Given the description of an element on the screen output the (x, y) to click on. 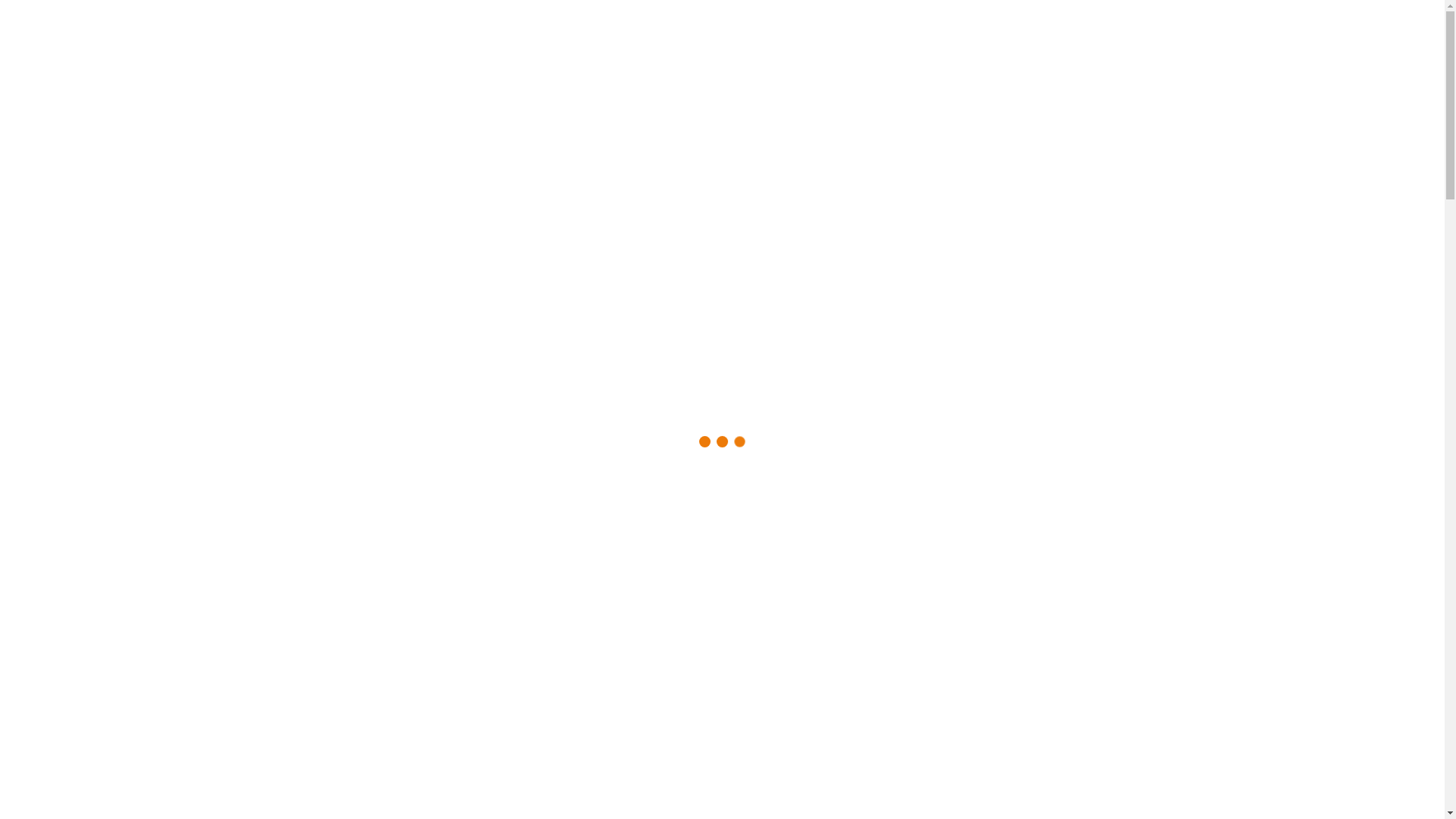
Radio Control, Lifting & Positioning Solutions Element type: hover (242, 86)
Products Element type: text (51, 357)
Services Element type: text (50, 411)
Radio Remote Controls Element type: text (117, 520)
About Element type: text (45, 343)
+61 2 9476 1159 Element type: text (47, 214)
Positioning & Measurement Element type: text (128, 398)
Services Element type: text (50, 561)
About Element type: text (45, 492)
+61 3 8323 0285 Element type: text (44, 270)
Projects Element type: text (49, 439)
Home Element type: text (44, 478)
Support Element type: text (49, 575)
Home Element type: text (44, 329)
Contact Element type: text (49, 602)
Products Element type: text (51, 507)
CTS Element type: hover (242, 155)
+61 7 3267 1001 Element type: text (47, 242)
Support Element type: text (49, 425)
Positioning & Measurement Element type: text (128, 548)
+61 8 9209 4200 Element type: text (41, 186)
Contact Us Element type: text (27, 6)
Radio Remote Controls Element type: text (117, 370)
Contact Element type: text (49, 452)
Magnet Systems Element type: text (100, 534)
Projects Element type: text (49, 589)
Magnet Systems Element type: text (100, 384)
